Given the description of an element on the screen output the (x, y) to click on. 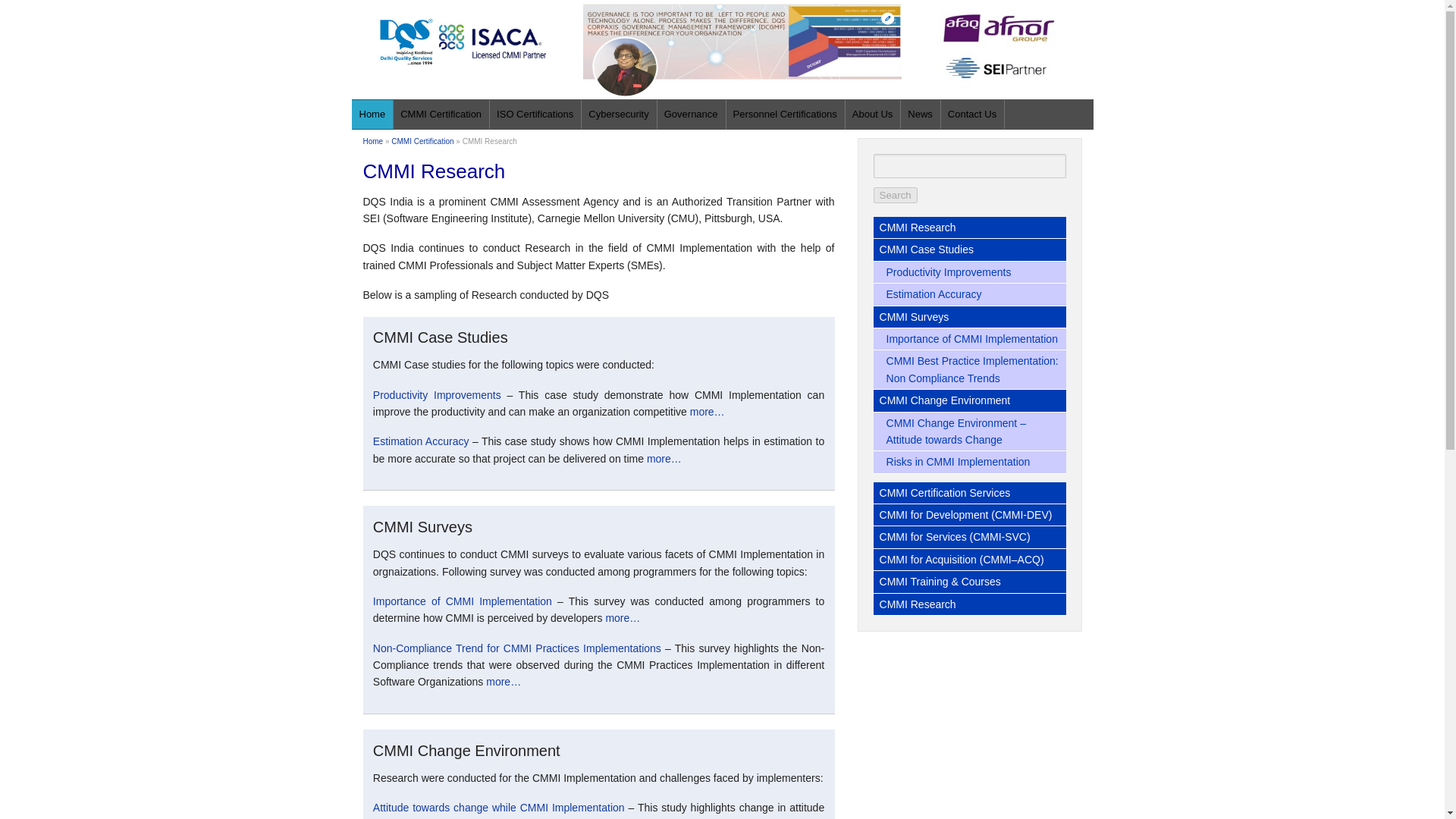
Estimation Accuracy (420, 440)
News (919, 113)
Home (372, 141)
CMMI Certification (421, 141)
Cybersecurity (618, 113)
Search (895, 195)
About Us (871, 113)
CMMI Surveys (969, 317)
Search (895, 195)
Non-Compliance Trend for CMMI Practices Implementations (516, 648)
Estimation Accuracy (969, 294)
Home (372, 113)
Personnel Certifications (784, 113)
Go to CMMI Certification. (421, 141)
Latest News (919, 113)
